Given the description of an element on the screen output the (x, y) to click on. 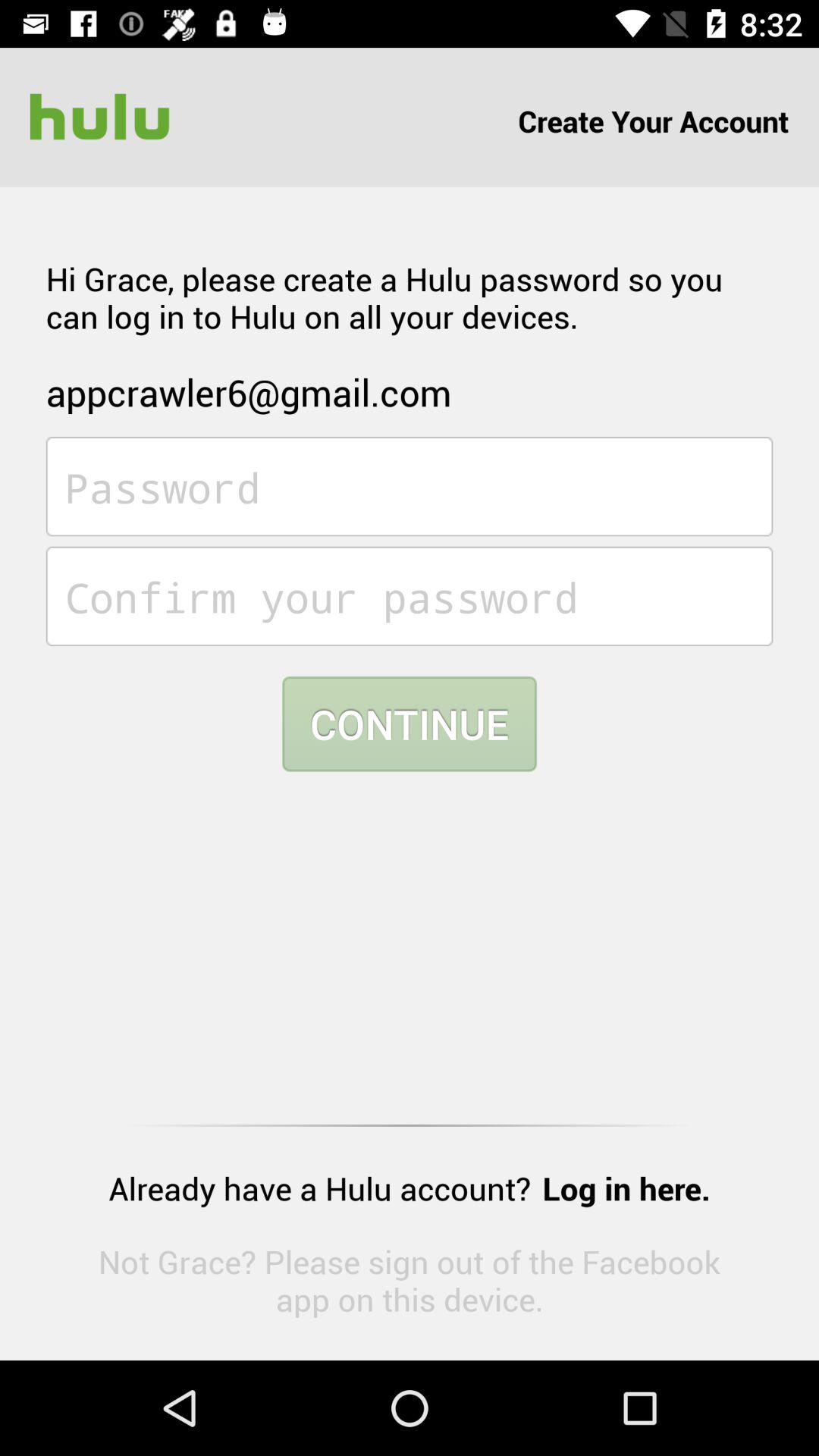
open the continue (409, 723)
